Given the description of an element on the screen output the (x, y) to click on. 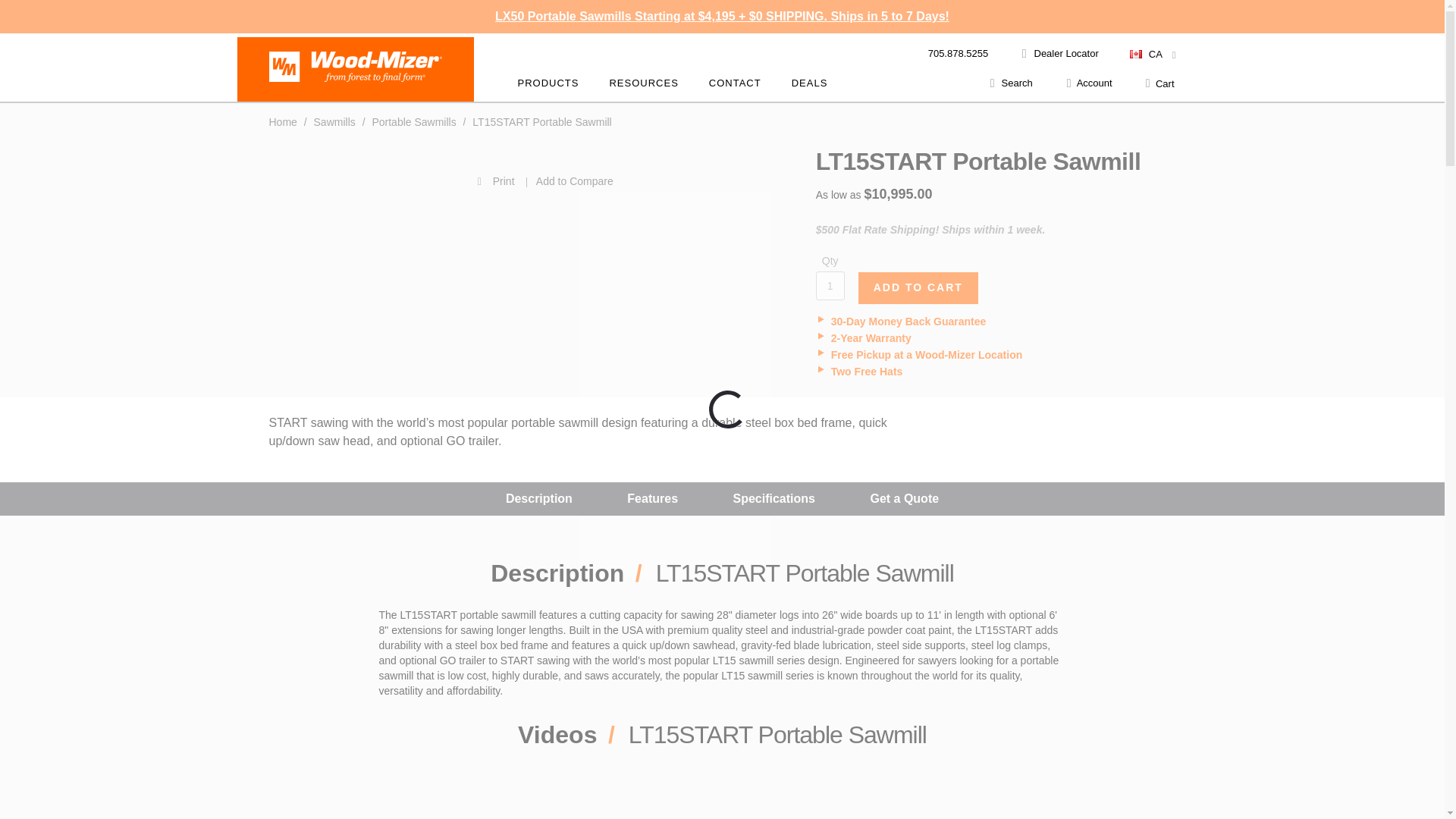
Print (394, 181)
Qty (829, 285)
Go to Home Page (283, 121)
Add to Cart (918, 287)
1 (829, 285)
